Given the description of an element on the screen output the (x, y) to click on. 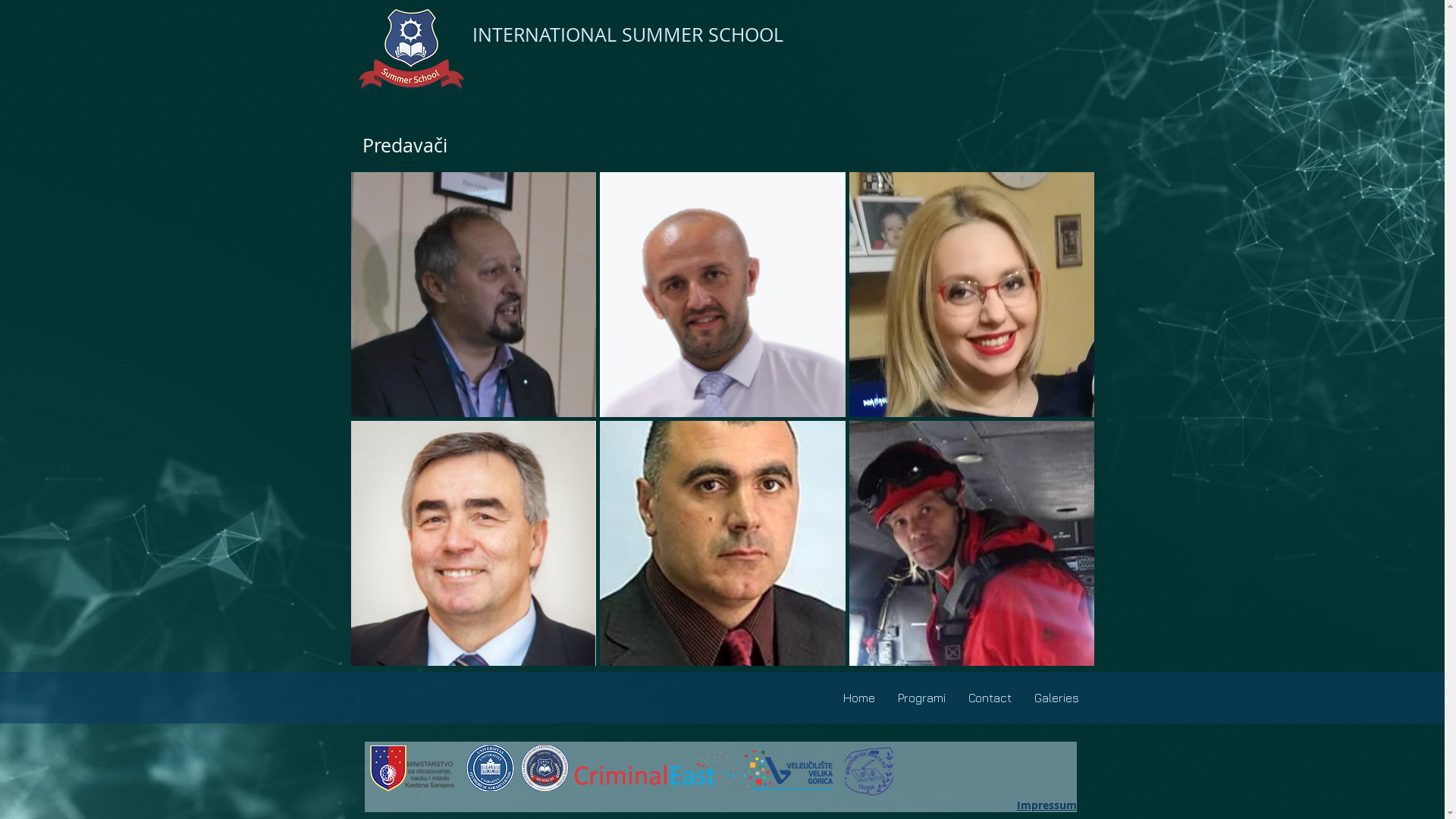
Programi Element type: text (920, 697)
Home Element type: text (858, 697)
Contact Element type: text (989, 697)
Impressum Element type: text (1046, 804)
Summer School logo s.png Element type: hover (410, 49)
Galeries Element type: text (1055, 697)
